Given the description of an element on the screen output the (x, y) to click on. 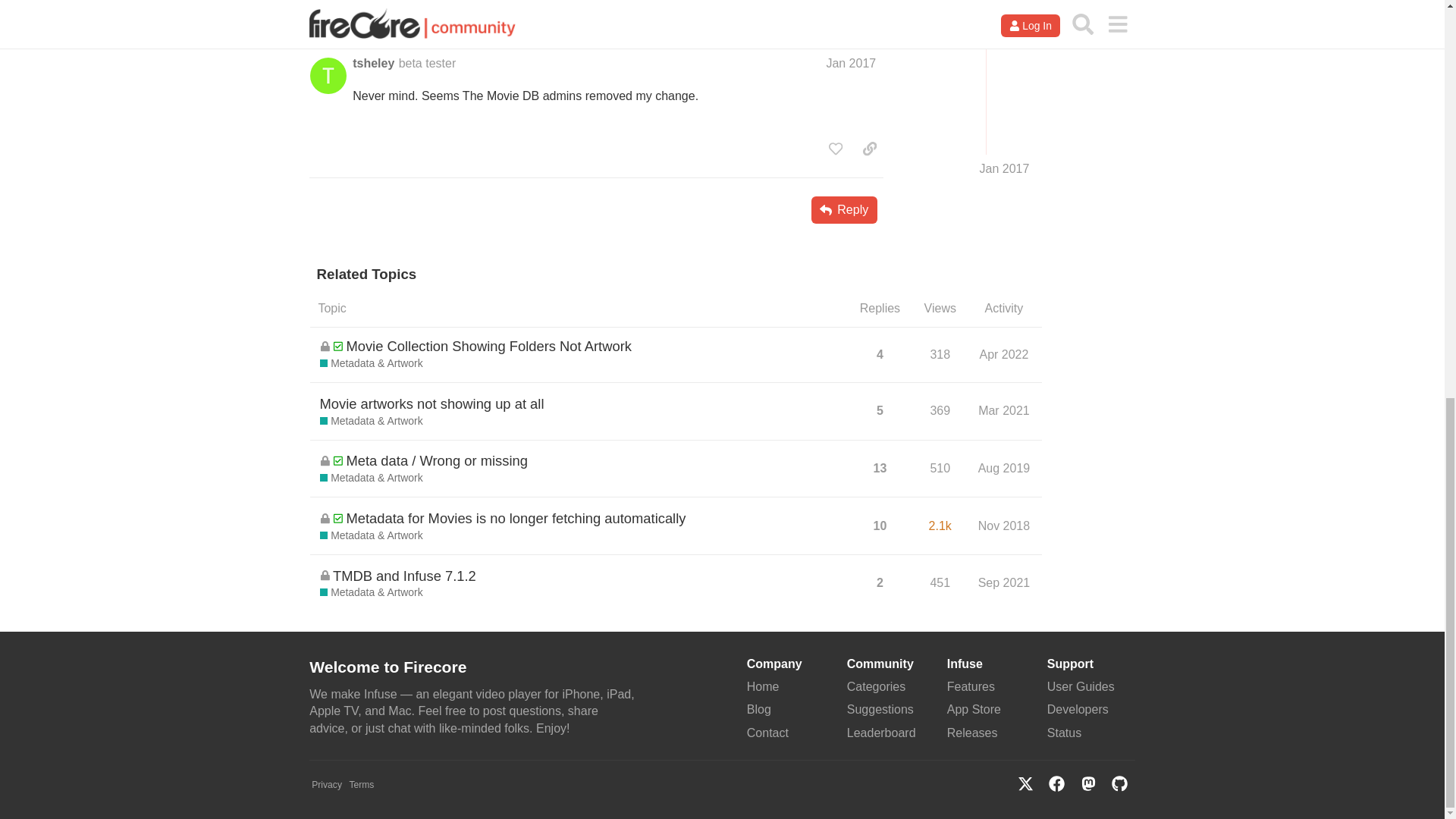
tsheley (373, 63)
